Given the description of an element on the screen output the (x, y) to click on. 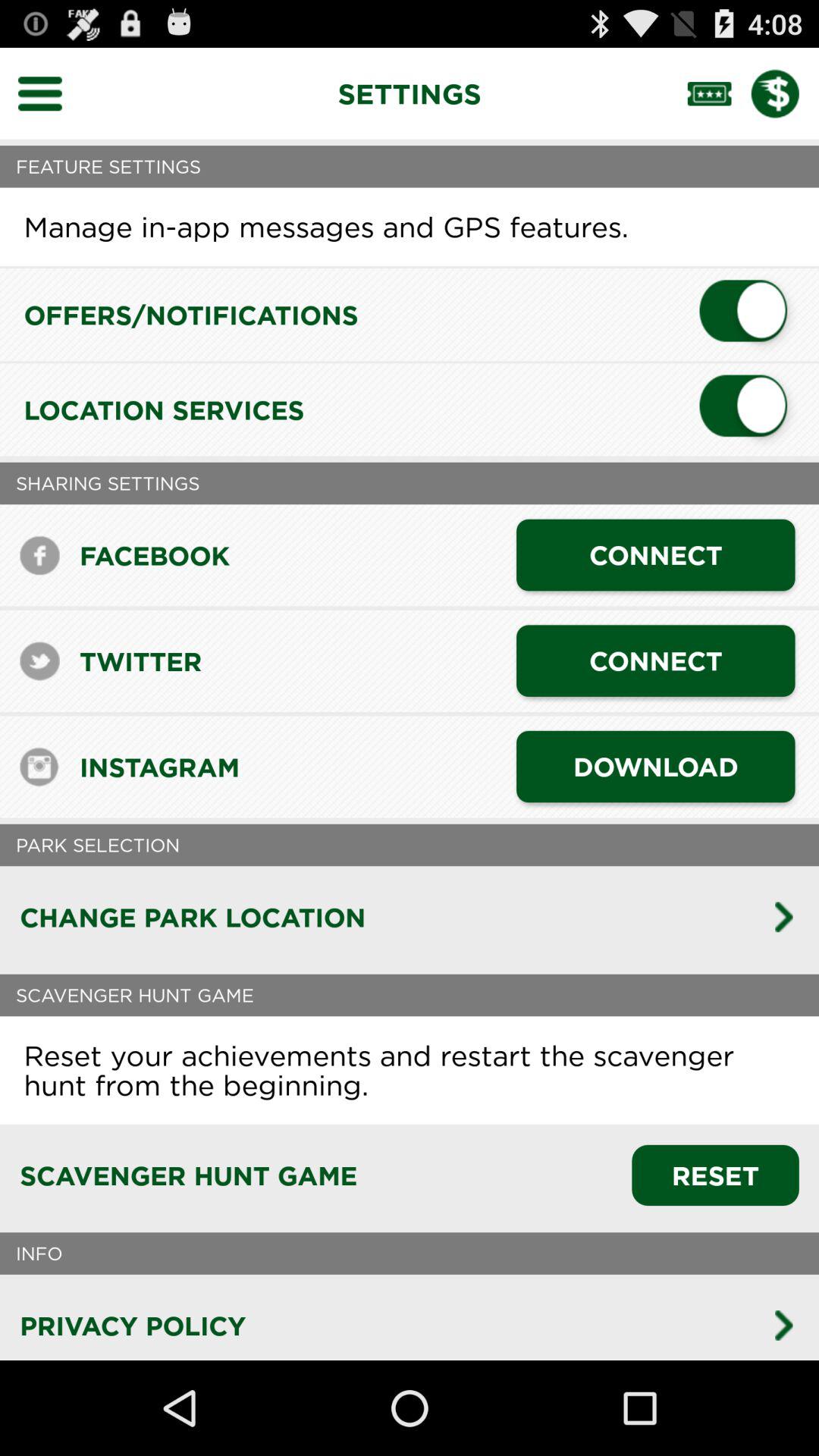
select menu (49, 93)
